Given the description of an element on the screen output the (x, y) to click on. 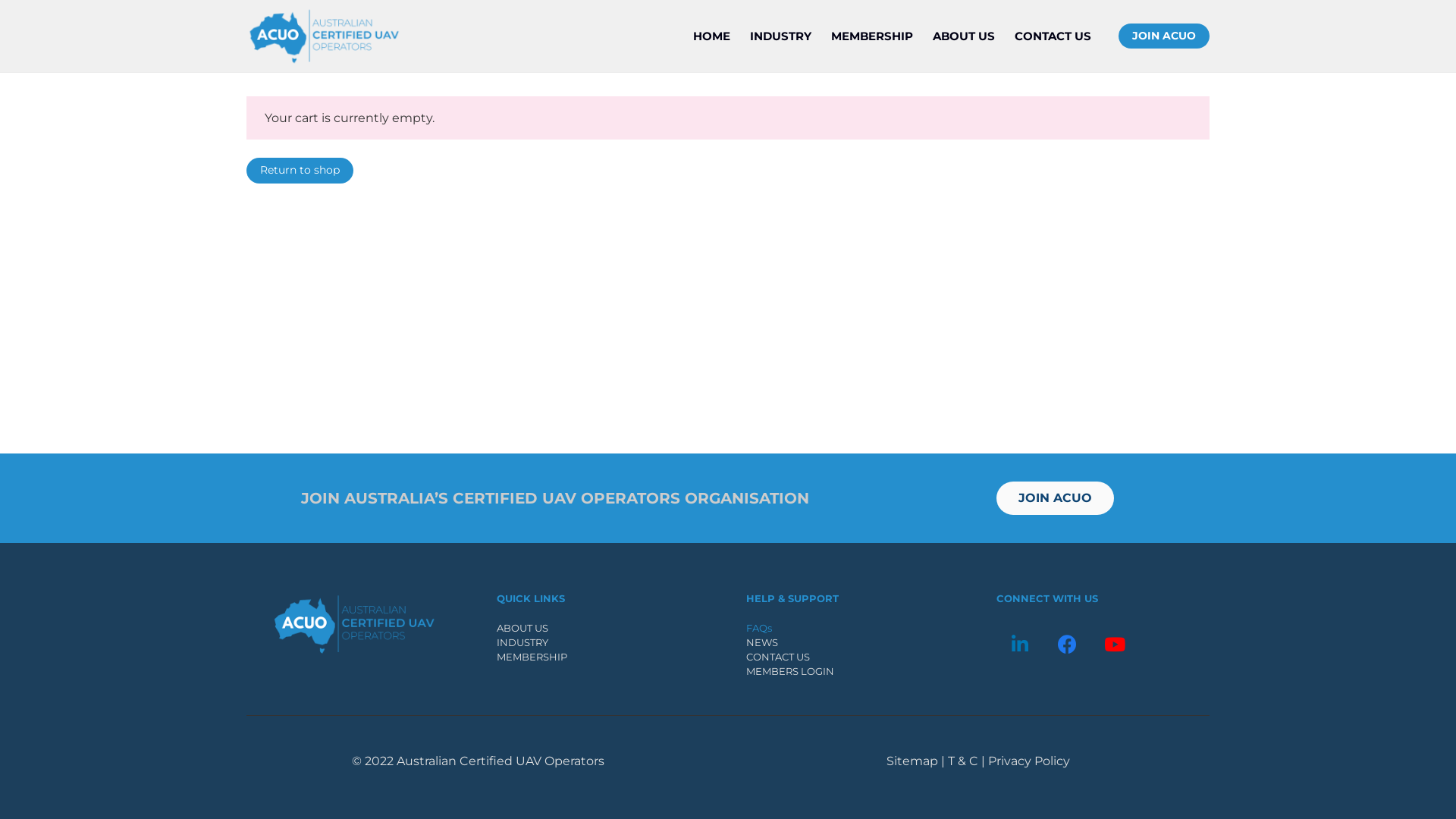
INDUSTRY Element type: text (780, 36)
JOIN ACUO Element type: text (1163, 36)
T & C Element type: text (962, 760)
Return to shop Element type: text (299, 170)
LinkedIn Element type: hover (1020, 644)
Sign In Element type: text (570, 418)
INDUSTRY Element type: text (521, 642)
JOIN ACUO Element type: text (1054, 498)
ABOUT US Element type: text (963, 36)
Activate Account Element type: text (606, 447)
Facebook Element type: hover (1067, 644)
CONTACT US Element type: text (777, 656)
NEWS Element type: text (762, 642)
CONTACT US Element type: text (1052, 36)
YouTube Element type: hover (1114, 644)
ABOUT US Element type: text (521, 627)
HOME Element type: text (711, 36)
Privacy Policy Element type: text (1028, 760)
Sitemap Element type: text (911, 760)
MEMBERS LOGIN Element type: text (790, 671)
MEMBERSHIP Element type: text (871, 36)
MEMBERSHIP Element type: text (530, 656)
